Given the description of an element on the screen output the (x, y) to click on. 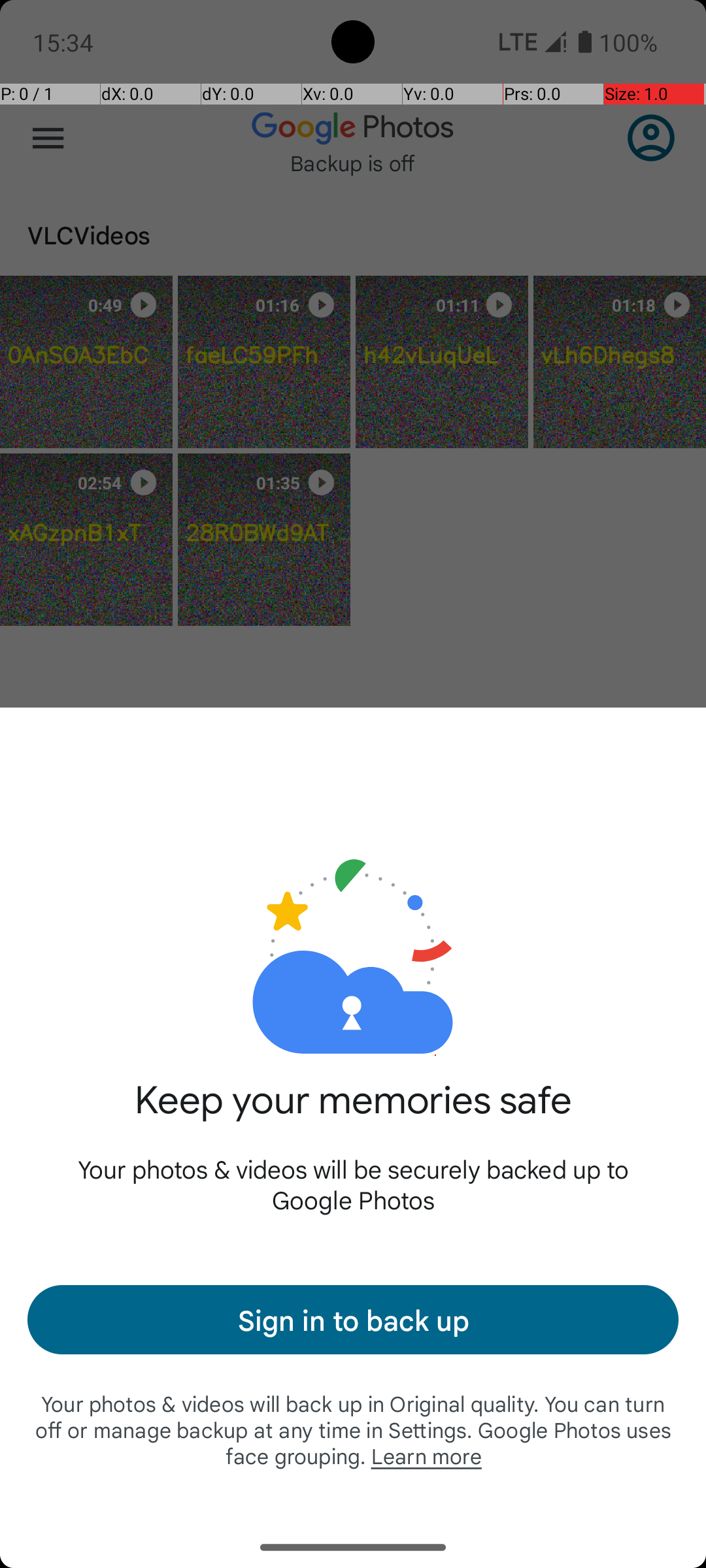
Photos and videos stored in a cloud Element type: android.widget.ImageView (352, 913)
Keep your memories safe Element type: android.widget.TextView (352, 1113)
Your photos & videos will be securely backed up to Google Photos Element type: android.widget.TextView (352, 1183)
Sign in to back up Element type: android.widget.Button (352, 1319)
Your photos & videos will back up in Original quality. You can turn off or manage backup at any time in Settings. Google Photos uses face grouping. Learn more Element type: android.widget.TextView (352, 1429)
